Given the description of an element on the screen output the (x, y) to click on. 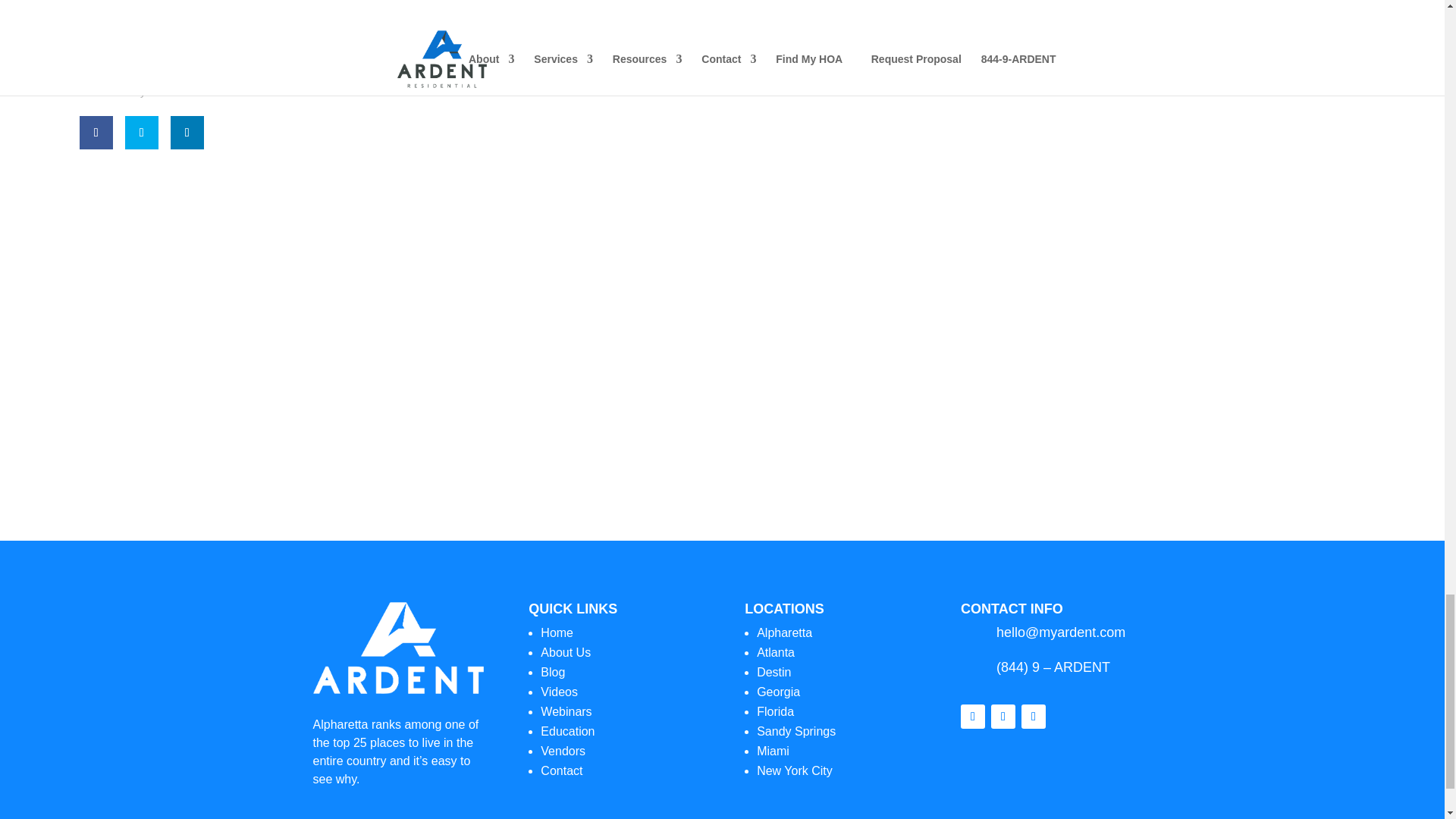
Follow on LinkedIn (186, 132)
Follow on Twitter (1002, 716)
Asset 2 (398, 647)
Follow on Facebook (96, 132)
Follow on LinkedIn (1033, 716)
Follow on Facebook (972, 716)
Follow on Twitter (141, 132)
